Given the description of an element on the screen output the (x, y) to click on. 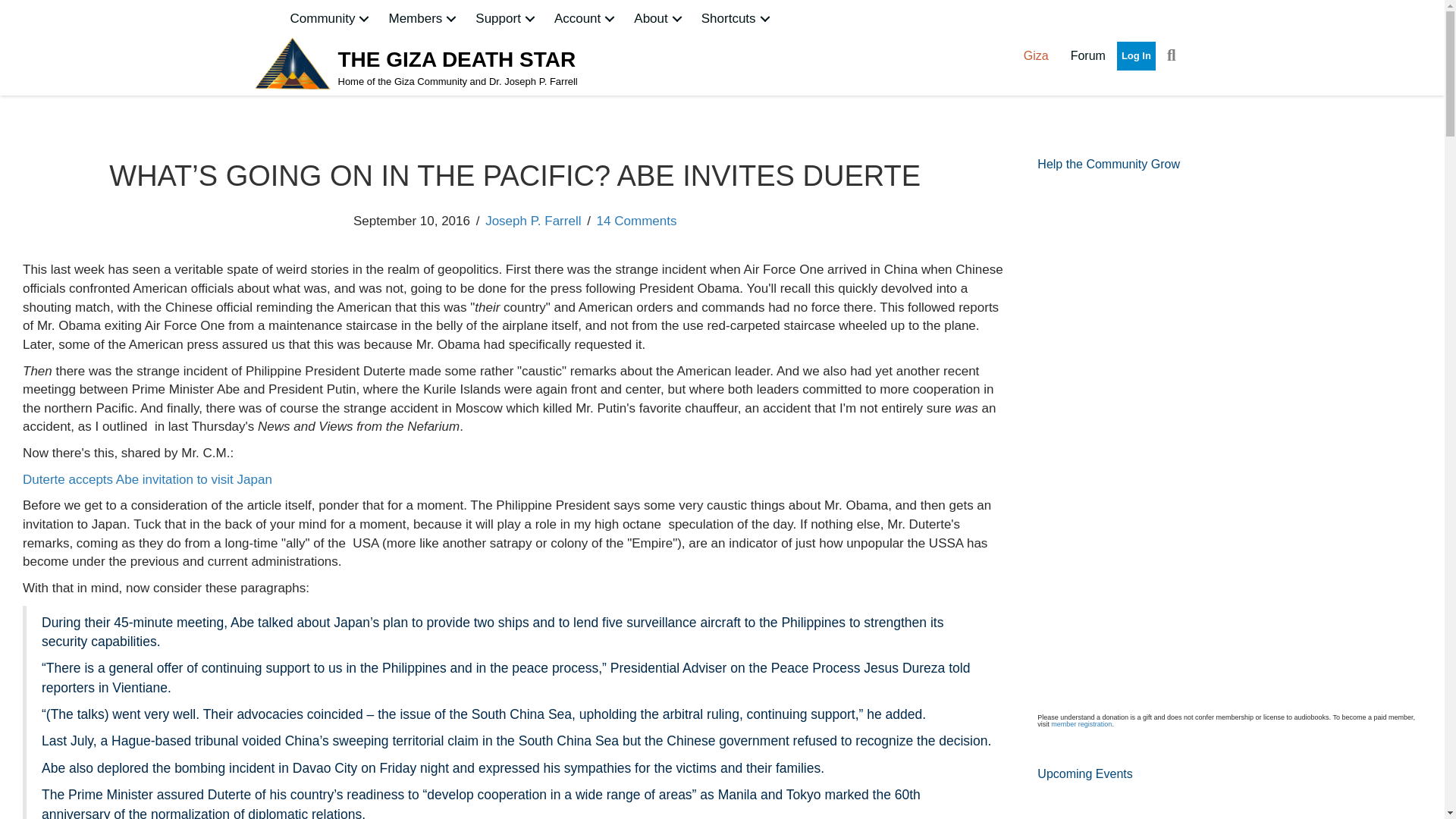
Support (507, 19)
Account (586, 19)
Community (331, 19)
About (659, 19)
Members (423, 19)
